Given the description of an element on the screen output the (x, y) to click on. 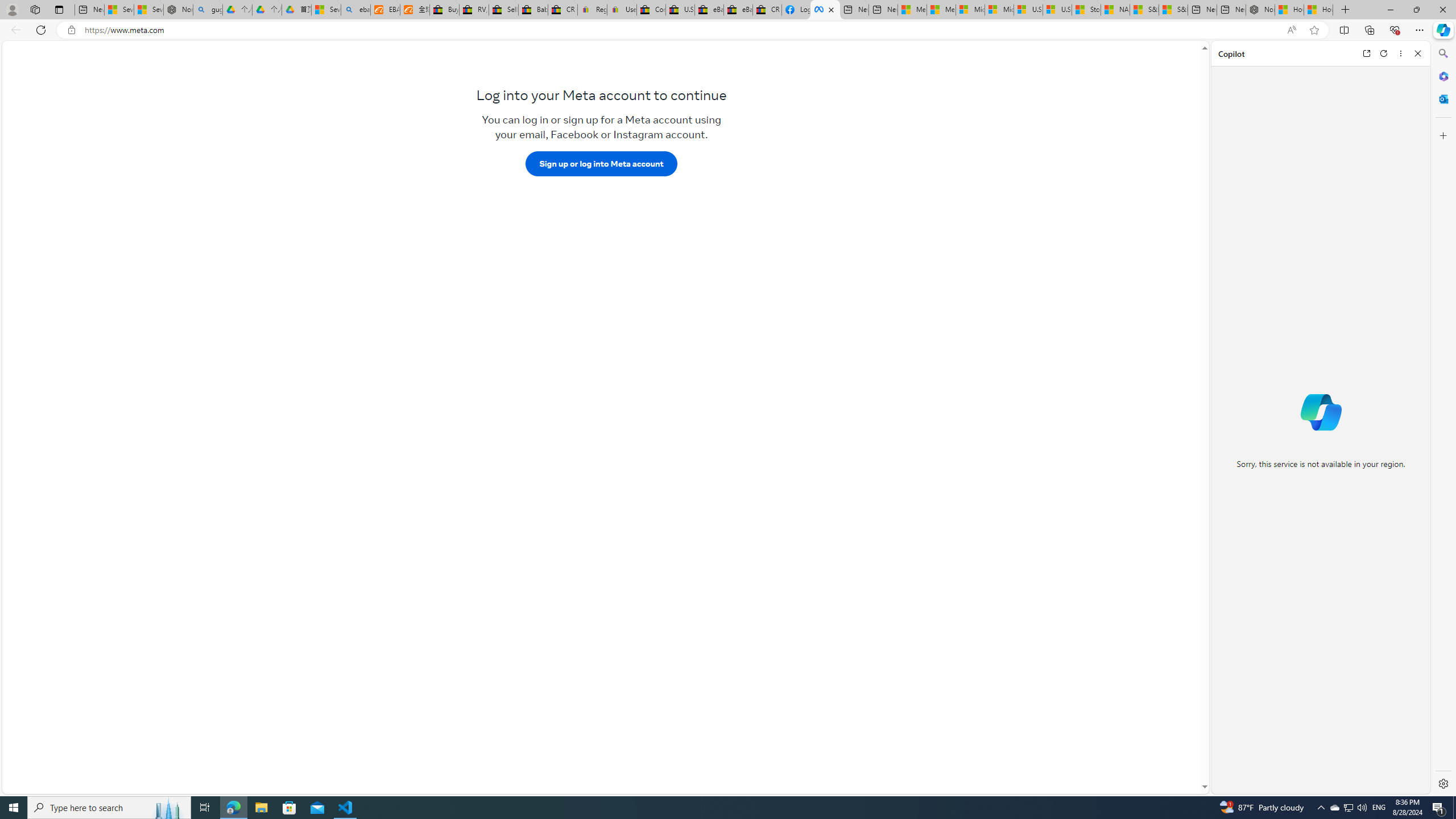
Register: Create a personal eBay account (591, 9)
Open link in new tab (1366, 53)
Settings (1442, 783)
Baby Keepsakes & Announcements for sale | eBay (533, 9)
U.S. State Privacy Disclosures - eBay Inc. (679, 9)
Log into Facebook (796, 9)
